Given the description of an element on the screen output the (x, y) to click on. 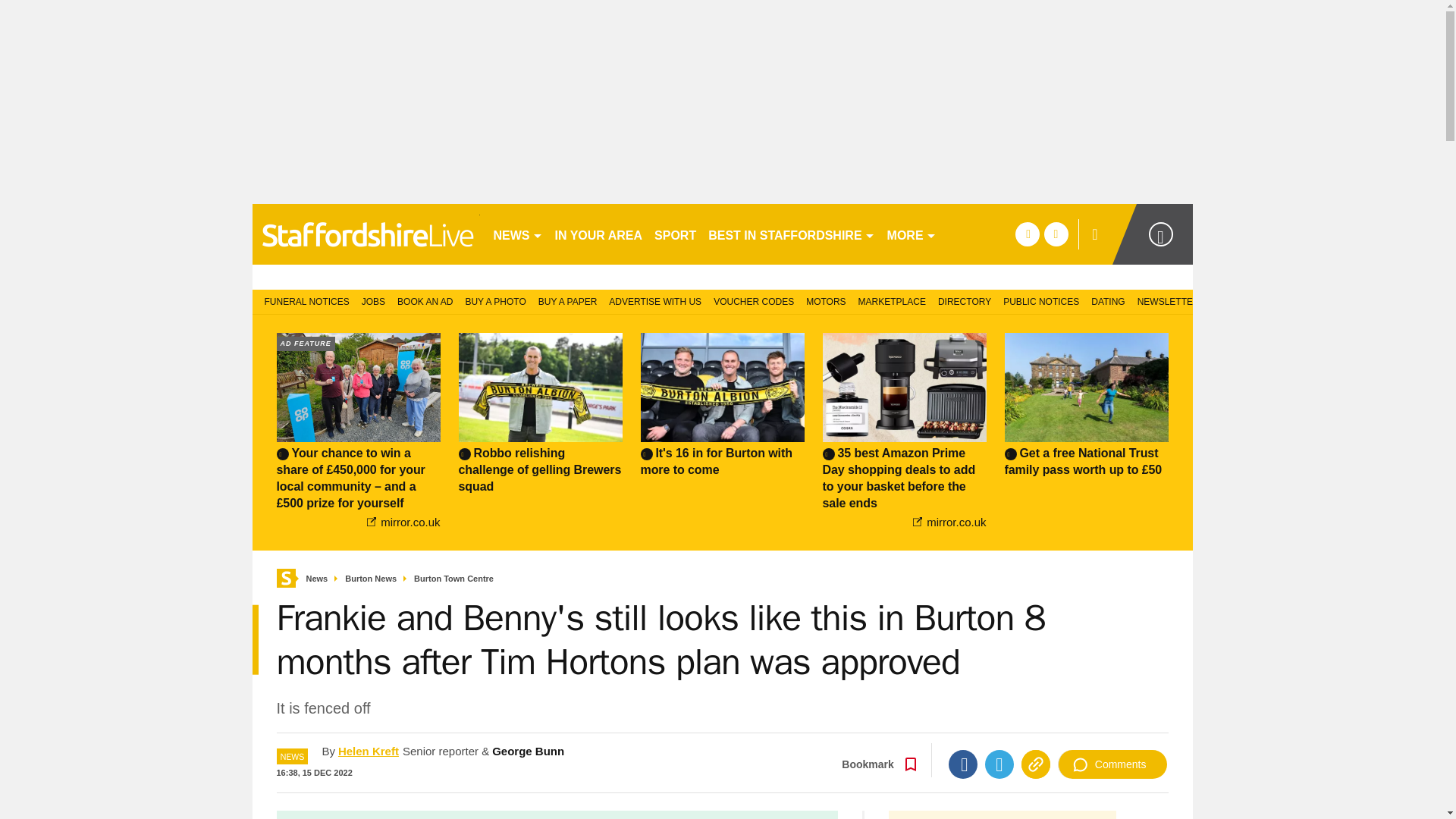
BUY A PAPER (568, 300)
twitter (1055, 233)
MORE (911, 233)
SPORT (674, 233)
NEWS (517, 233)
FUNERAL NOTICES (303, 300)
Comments (1112, 764)
BOOK AN AD (424, 300)
MARKETPLACE (891, 300)
Twitter (999, 764)
JOBS (373, 300)
BUY A PHOTO (494, 300)
IN YOUR AREA (598, 233)
VOUCHER CODES (753, 300)
ADVERTISE WITH US (654, 300)
